Given the description of an element on the screen output the (x, y) to click on. 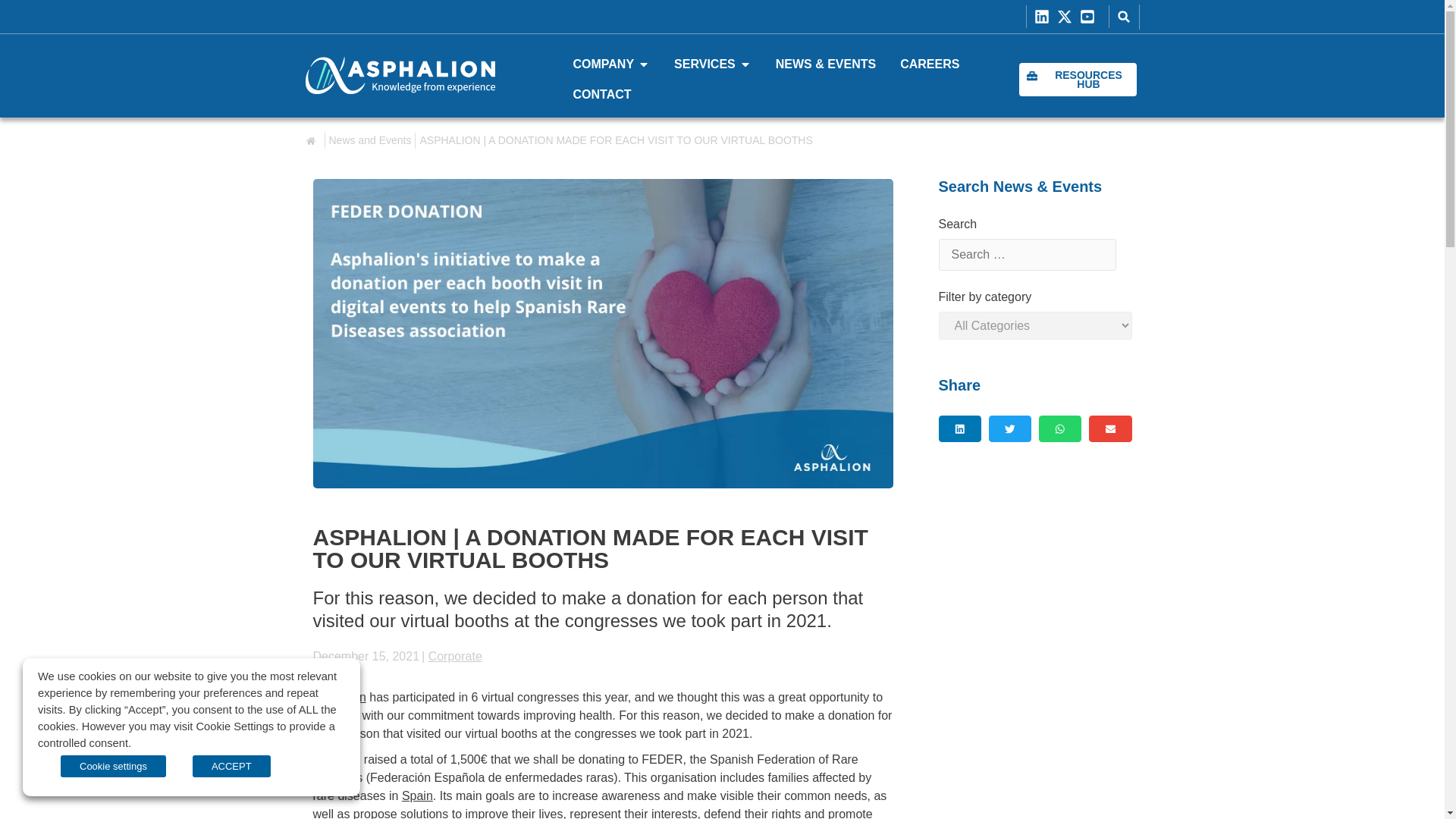
Go to Youtube (1091, 16)
CONTACT (602, 94)
Go to LinkedIn (1045, 16)
Go to Homepage (399, 75)
CAREERS (929, 64)
Go to Twitter (1068, 16)
